Given the description of an element on the screen output the (x, y) to click on. 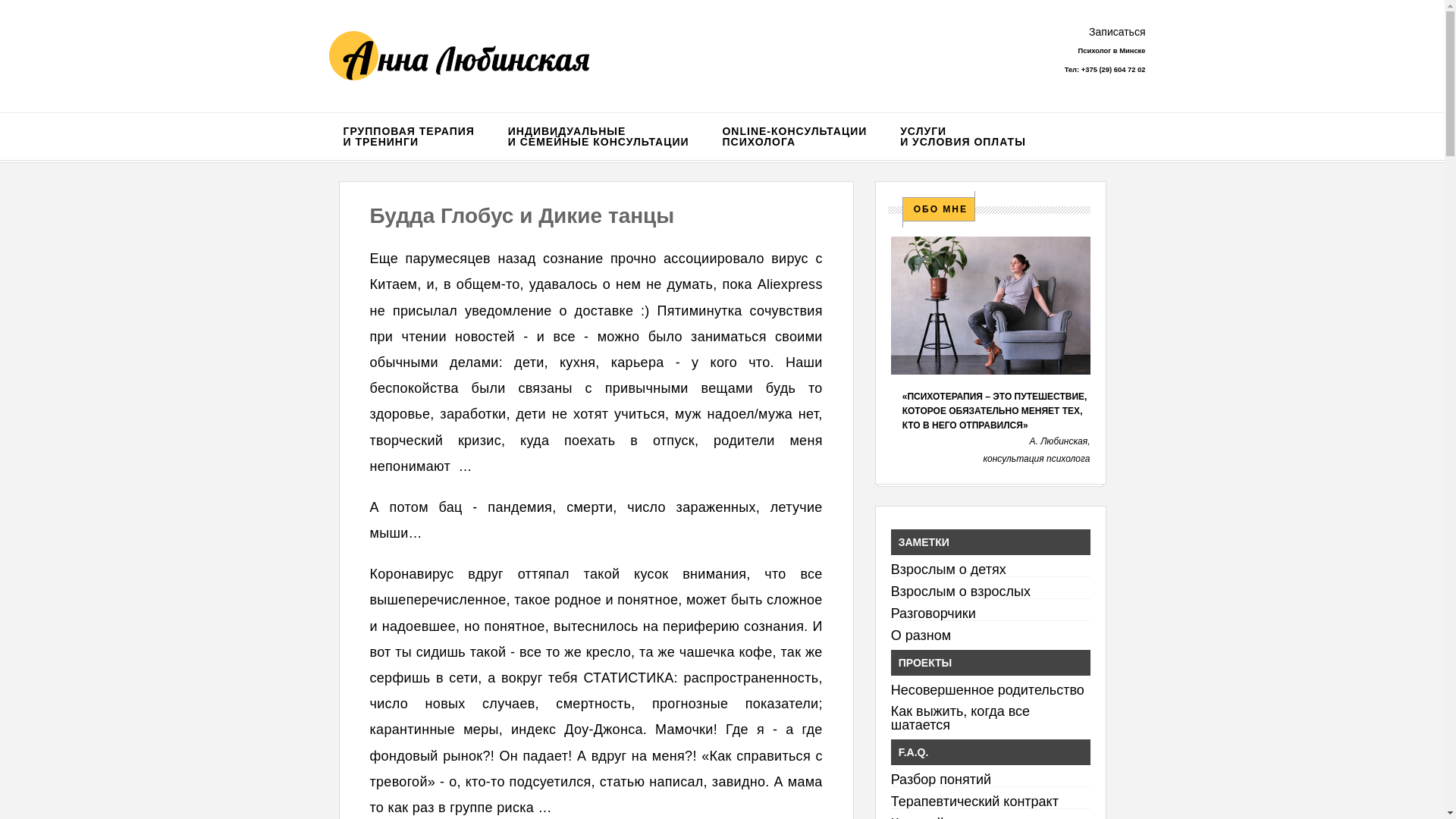
F.A.Q. Element type: text (990, 752)
